Given the description of an element on the screen output the (x, y) to click on. 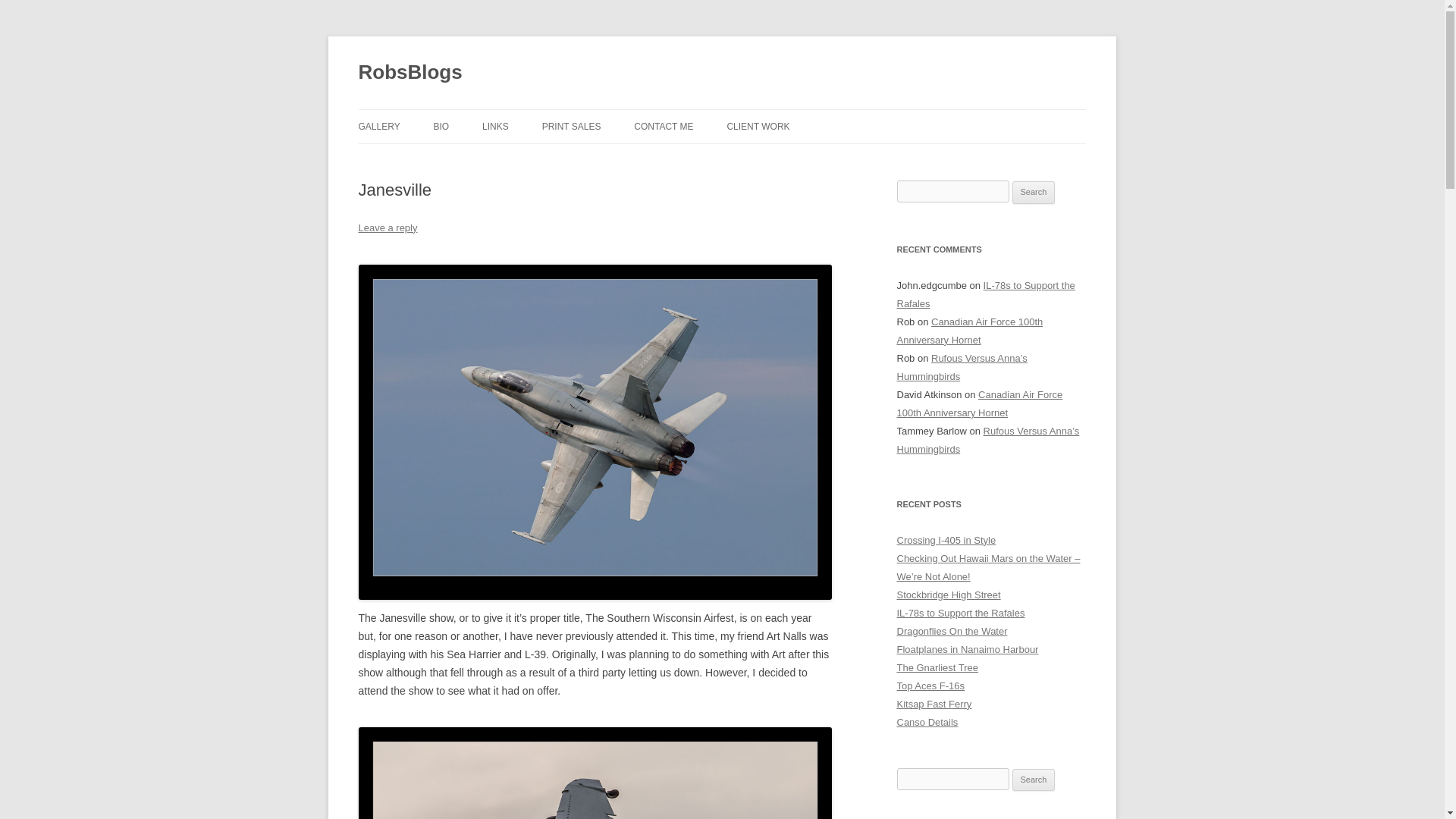
Leave a reply (387, 227)
CLIENT WORK (757, 126)
CONTACT ME (663, 126)
Search (1033, 780)
Search (1033, 191)
GALLERY (378, 126)
PRINT SALES (571, 126)
RobsBlogs (409, 72)
wpid4031-AU0E0479.jpg (594, 772)
